Given the description of an element on the screen output the (x, y) to click on. 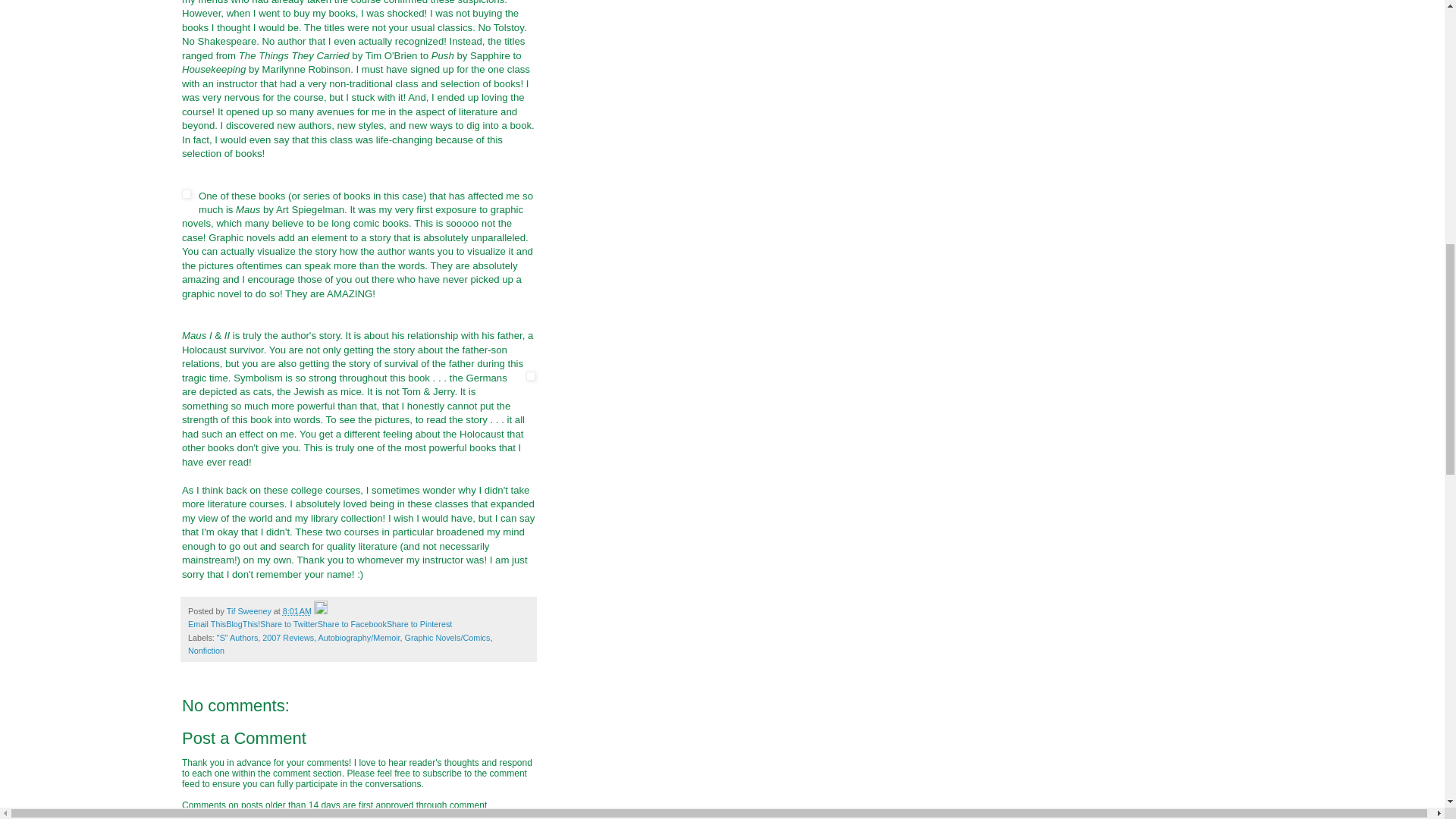
BlogThis! (242, 623)
Share to Pinterest (419, 623)
permanent link (296, 610)
Share to Facebook (352, 623)
Share to Twitter (288, 623)
Email This (206, 623)
Share to Twitter (288, 623)
Email This (206, 623)
"S" Authors (236, 637)
Tif Sweeney (250, 610)
2007 Reviews (288, 637)
author profile (250, 610)
Nonfiction (205, 650)
Share to Facebook (352, 623)
BlogThis! (242, 623)
